Given the description of an element on the screen output the (x, y) to click on. 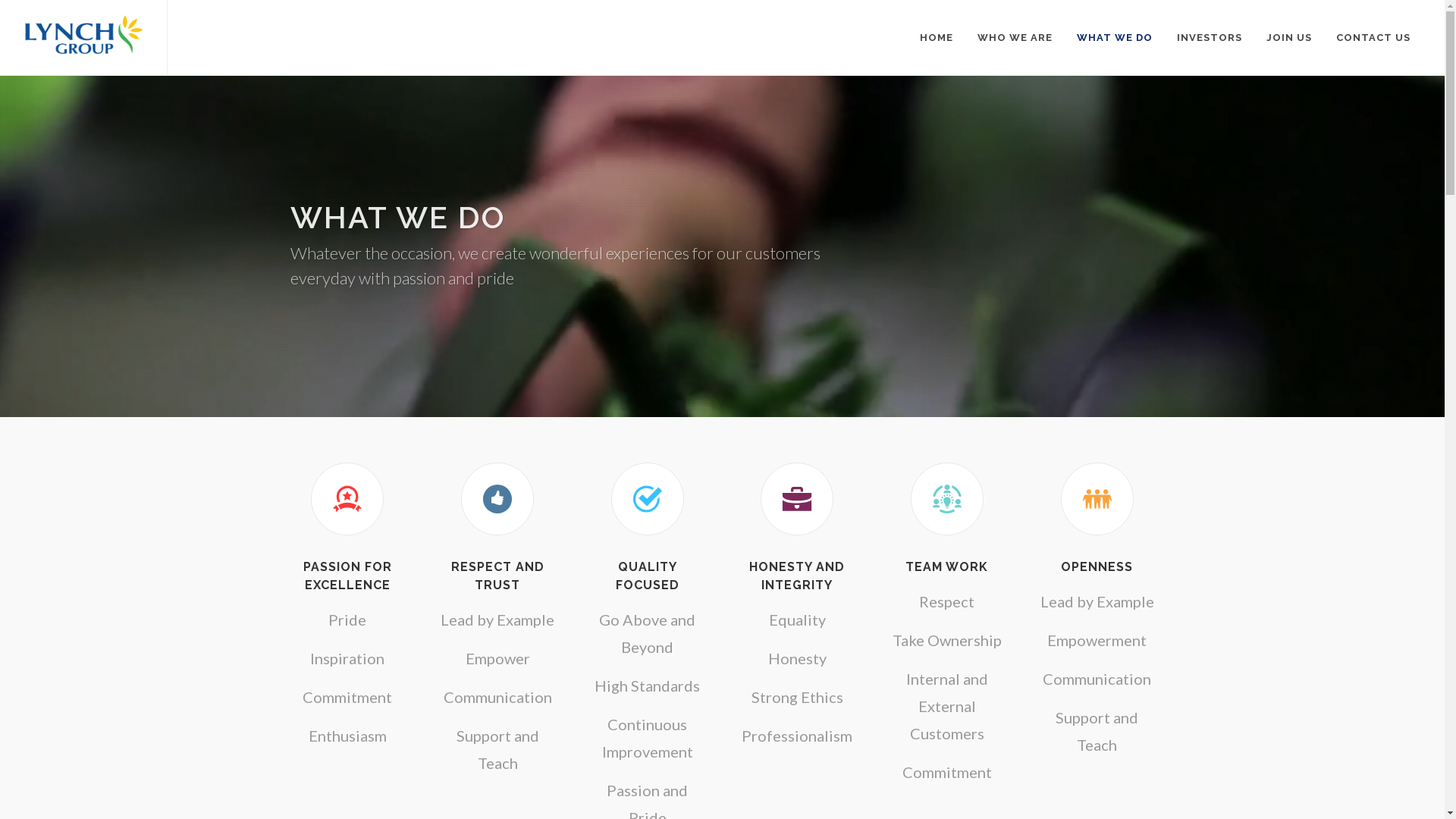
WHO WE ARE Element type: text (1014, 37)
WHAT WE DO Element type: text (1114, 37)
JOIN US Element type: text (1289, 37)
INVESTORS Element type: text (1209, 37)
CONTACT US Element type: text (1372, 37)
HOME Element type: text (936, 37)
